Given the description of an element on the screen output the (x, y) to click on. 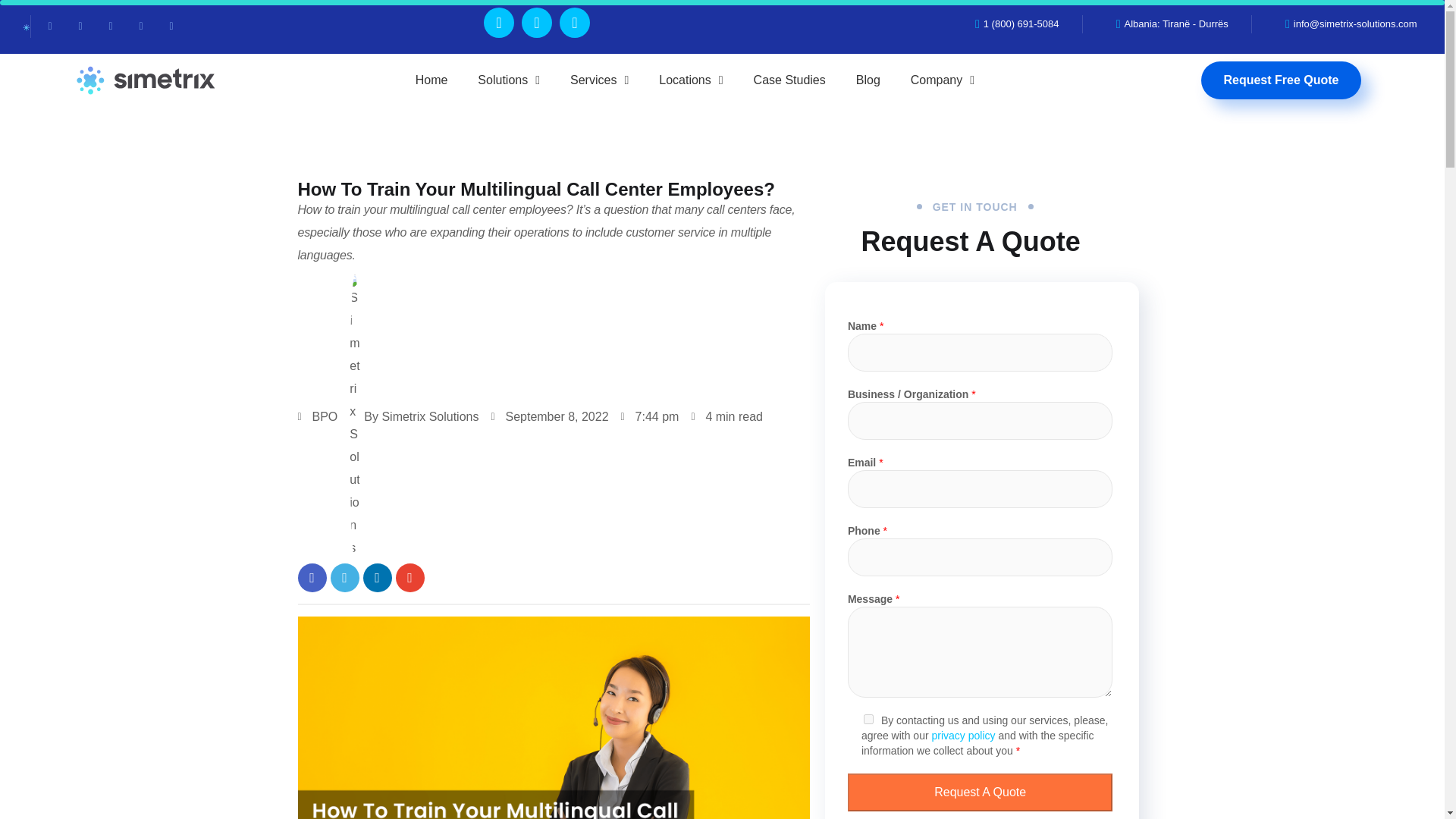
Home (431, 80)
Solutions (508, 80)
Case Studies (789, 80)
simetrix solution logo (26, 27)
Services (598, 80)
Blog (868, 80)
Company (942, 80)
Locations (690, 80)
